Given the description of an element on the screen output the (x, y) to click on. 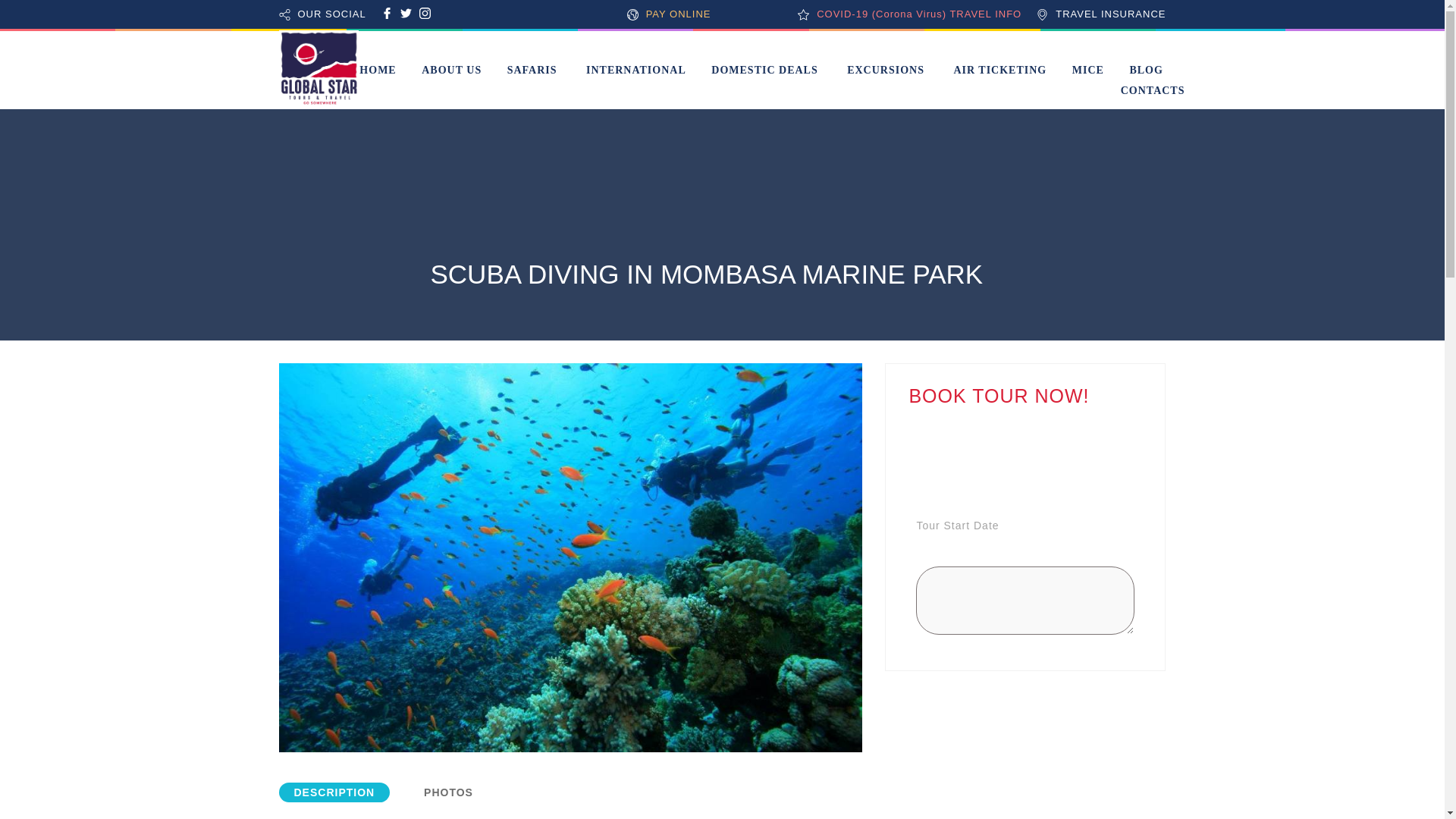
ABOUT US (451, 70)
HOME (377, 70)
INTERNATIONAL (635, 70)
SAFARIS (531, 70)
PAY ONLINE (678, 13)
DOMESTIC DEALS (763, 70)
OUR SOCIAL (331, 13)
TRAVEL INSURANCE (1110, 13)
